Given the description of an element on the screen output the (x, y) to click on. 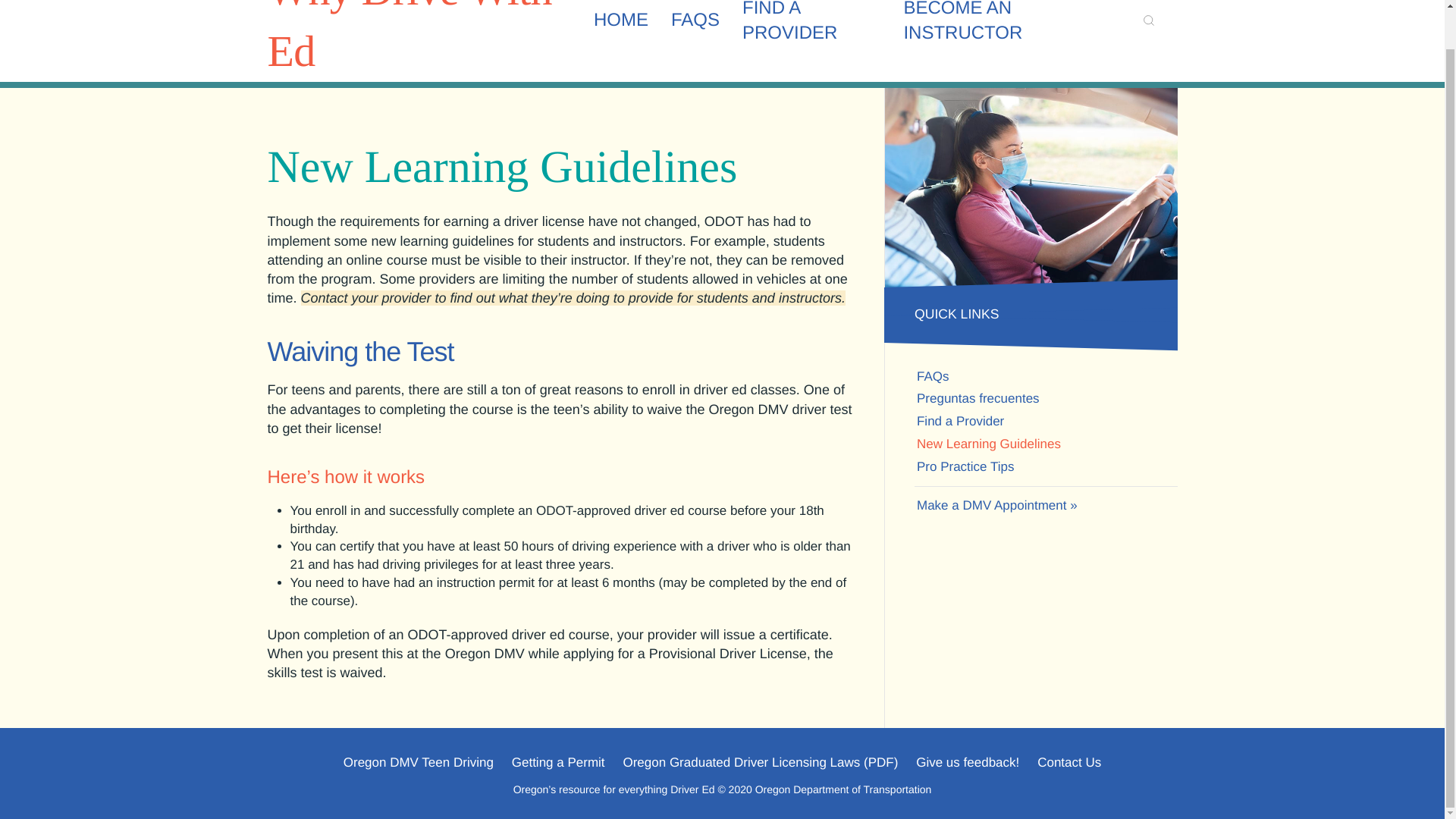
New Learning Guidelines (1045, 444)
Getting a Permit (557, 762)
Give us feedback! (967, 762)
FIND A PROVIDER (810, 25)
Getting a Permit (557, 762)
Pro Practice Tips (1045, 466)
Give us feedback! (967, 762)
BECOME AN INSTRUCTOR (1005, 25)
Contact Us (1068, 762)
Why Drive With Ed (408, 38)
Find a Provider (810, 25)
HOME (620, 25)
Oregon DMV Teen Driving (418, 762)
Find a Provider (1045, 421)
FAQs (1045, 376)
